Given the description of an element on the screen output the (x, y) to click on. 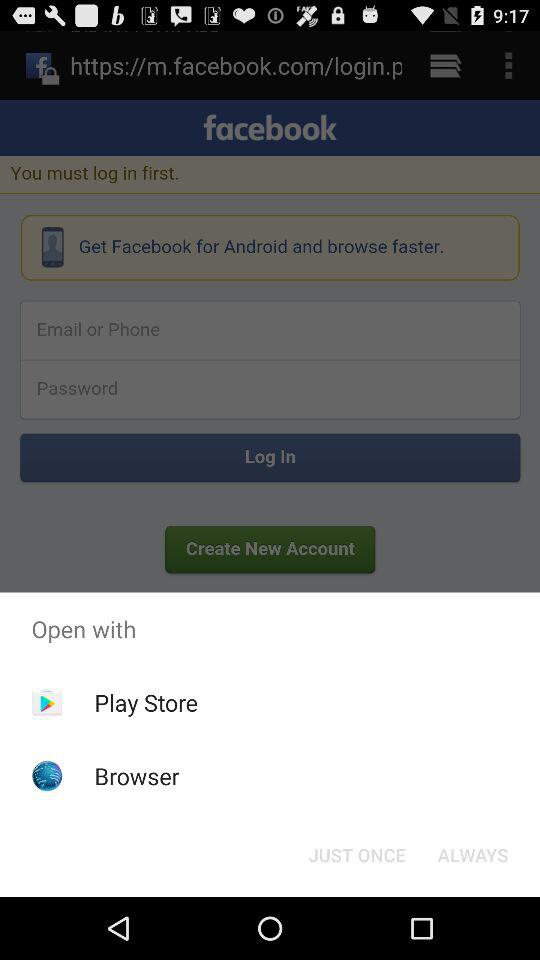
turn off just once button (356, 854)
